Given the description of an element on the screen output the (x, y) to click on. 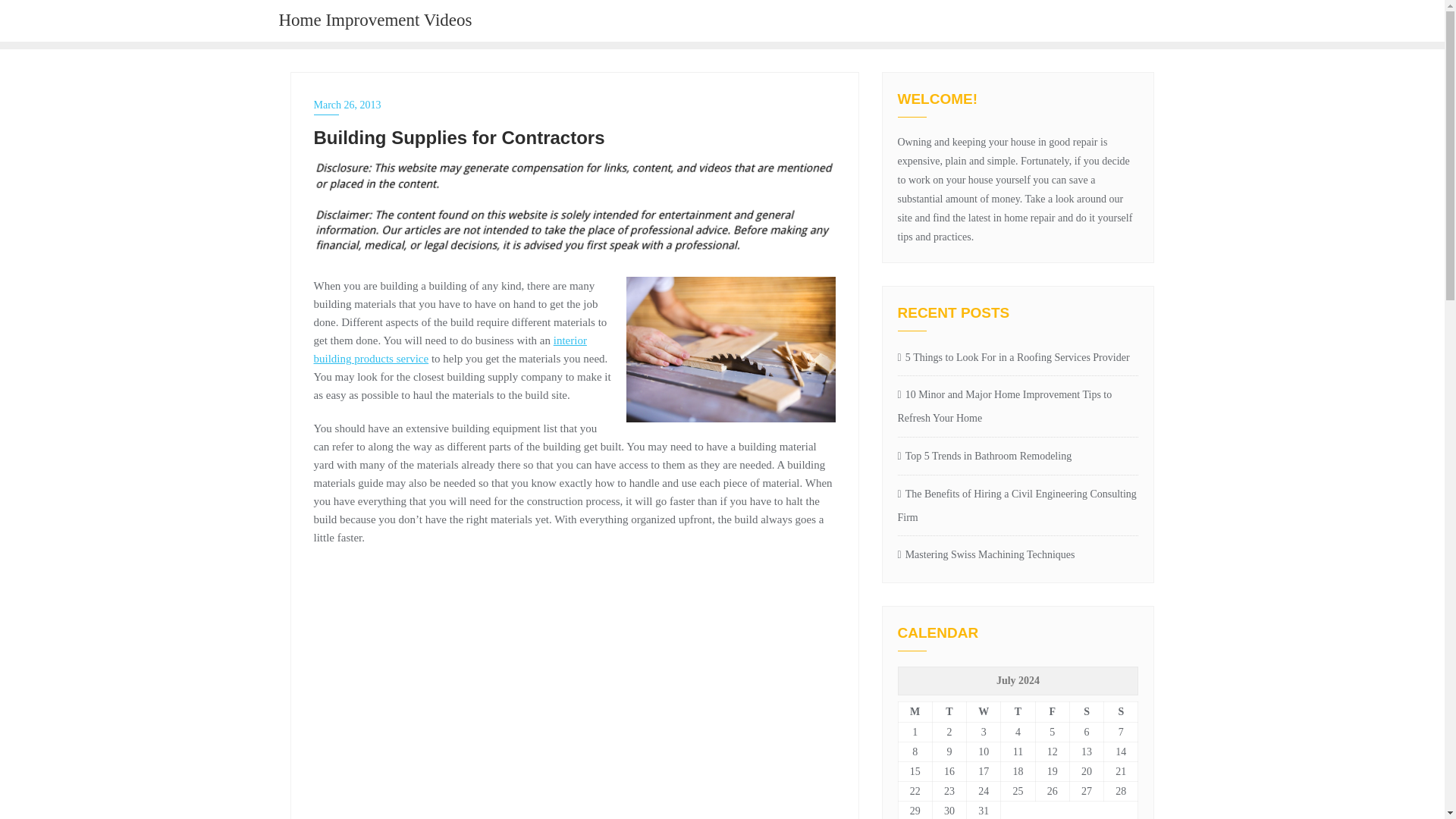
Saturday (1085, 711)
Friday (1051, 711)
March 26, 2013 (574, 104)
The Benefits of Hiring a Civil Engineering Consulting Firm (1018, 506)
Monday (914, 711)
interior building products service (450, 349)
5 Things to Look For in a Roofing Services Provider (1018, 358)
Thursday (1018, 711)
Top 5 Trends in Bathroom Remodeling (1018, 456)
What A General Contractor Does (556, 690)
Sunday (1120, 711)
Wednesday (983, 711)
Mastering Swiss Machining Techniques (1018, 555)
Home Improvement Videos (375, 20)
